Given the description of an element on the screen output the (x, y) to click on. 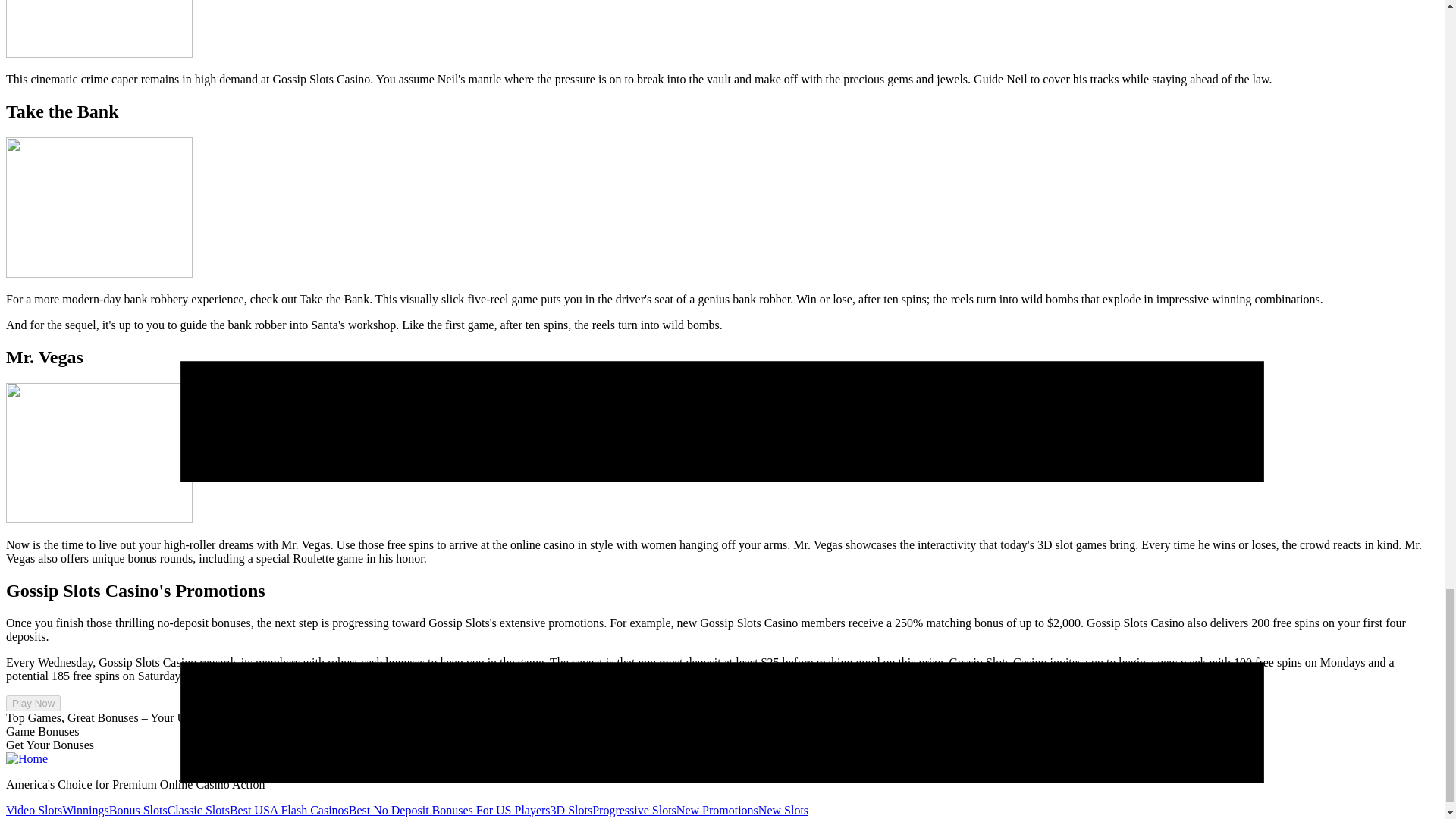
Video Slots (33, 809)
New Slots (783, 809)
Play Now (33, 703)
Best USA Flash Casinos (289, 809)
Classic Slots (198, 809)
New Promotions (717, 809)
Progressive Slots (634, 809)
3D Slots (571, 809)
Best No Deposit Bonuses For US Players (449, 809)
Winnings (85, 809)
Bonus Slots (138, 809)
